Given the description of an element on the screen output the (x, y) to click on. 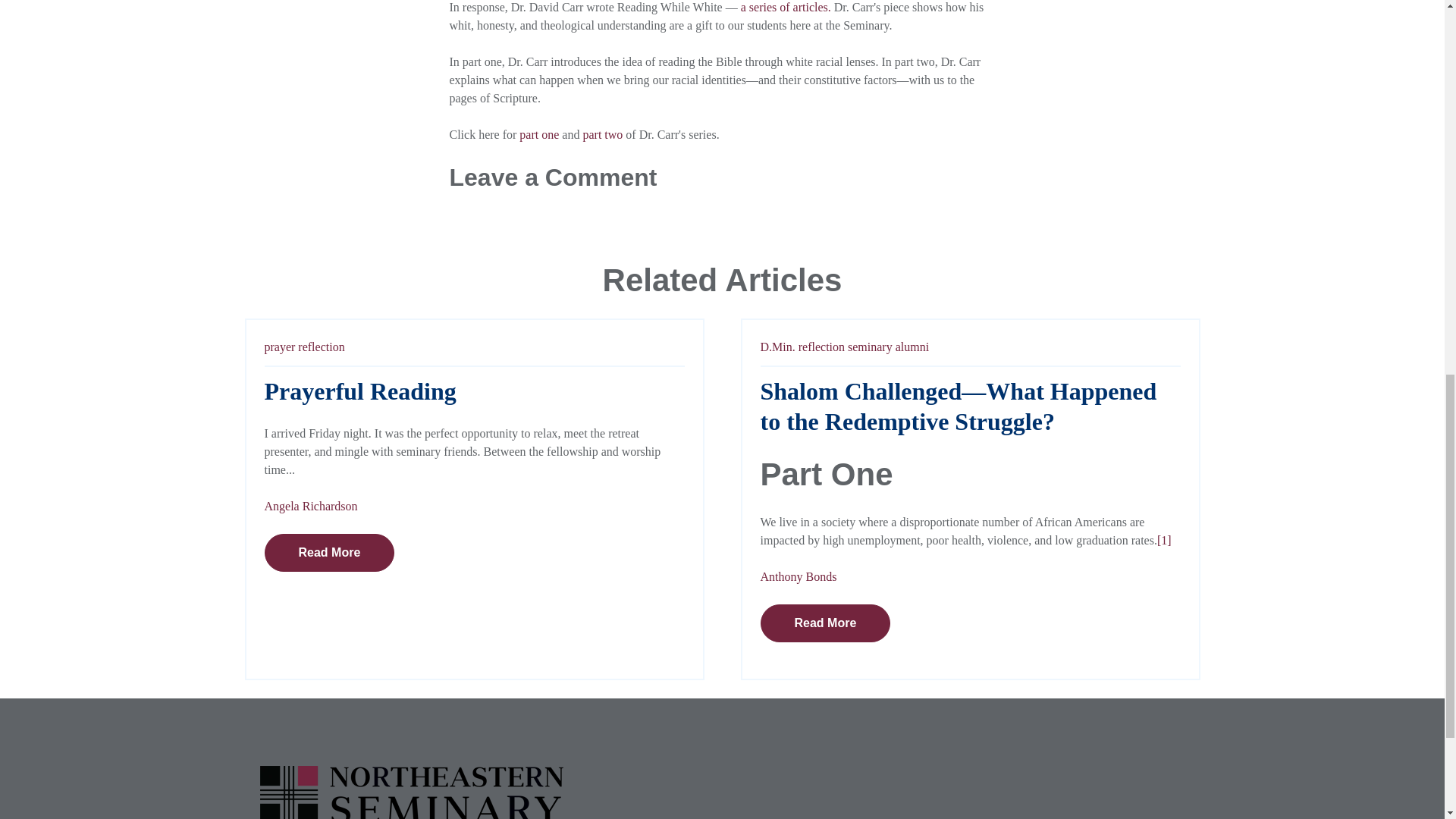
part one (540, 133)
Read More (824, 623)
part two (602, 133)
Angela Richardson (309, 505)
a series of articles. (787, 6)
reflection (320, 346)
prayer (279, 346)
NES Logo NEW-Horizontal (410, 792)
reflection (820, 346)
D.Min. (777, 346)
